Given the description of an element on the screen output the (x, y) to click on. 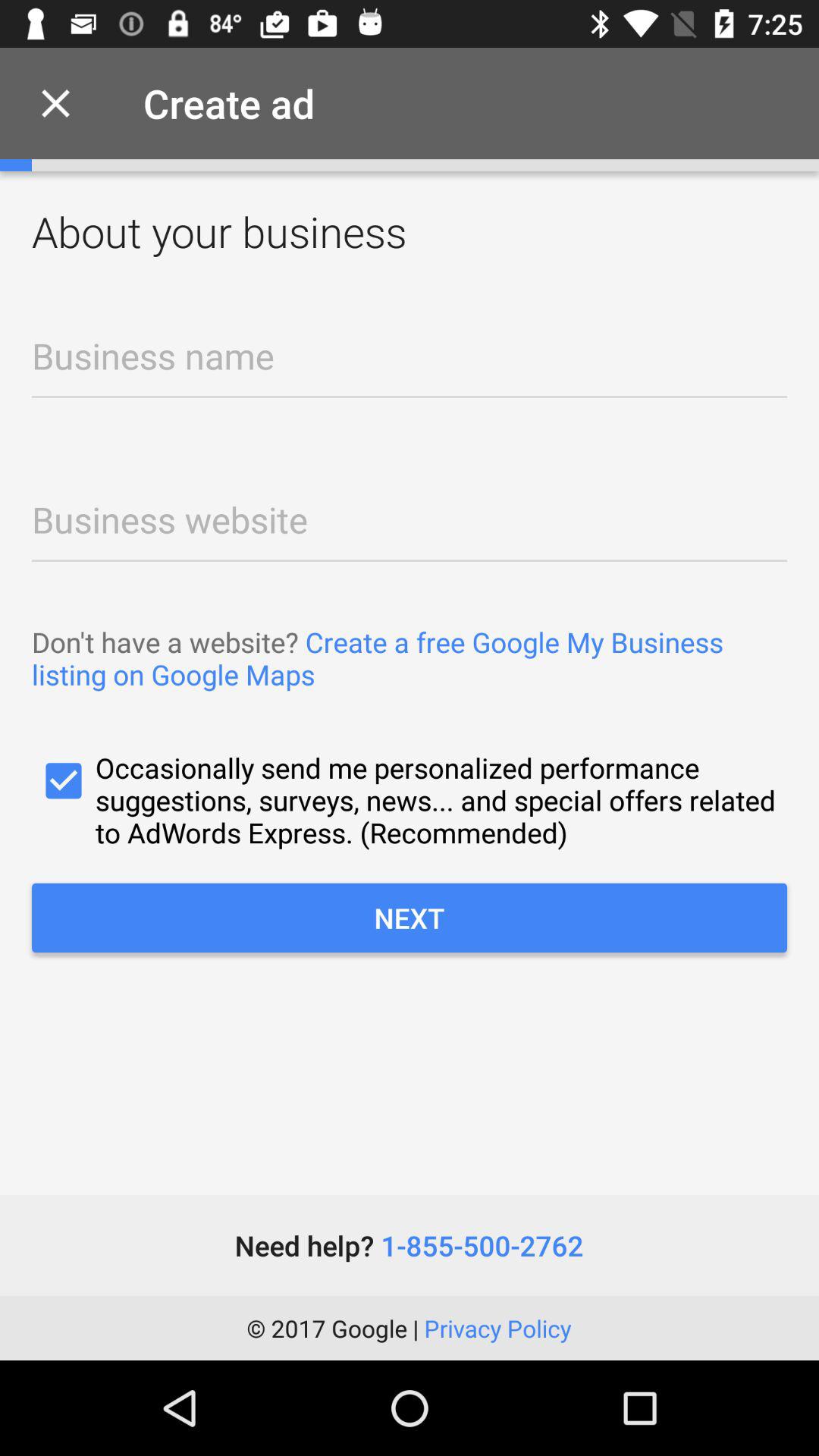
scroll to the occasionally send me item (409, 800)
